Given the description of an element on the screen output the (x, y) to click on. 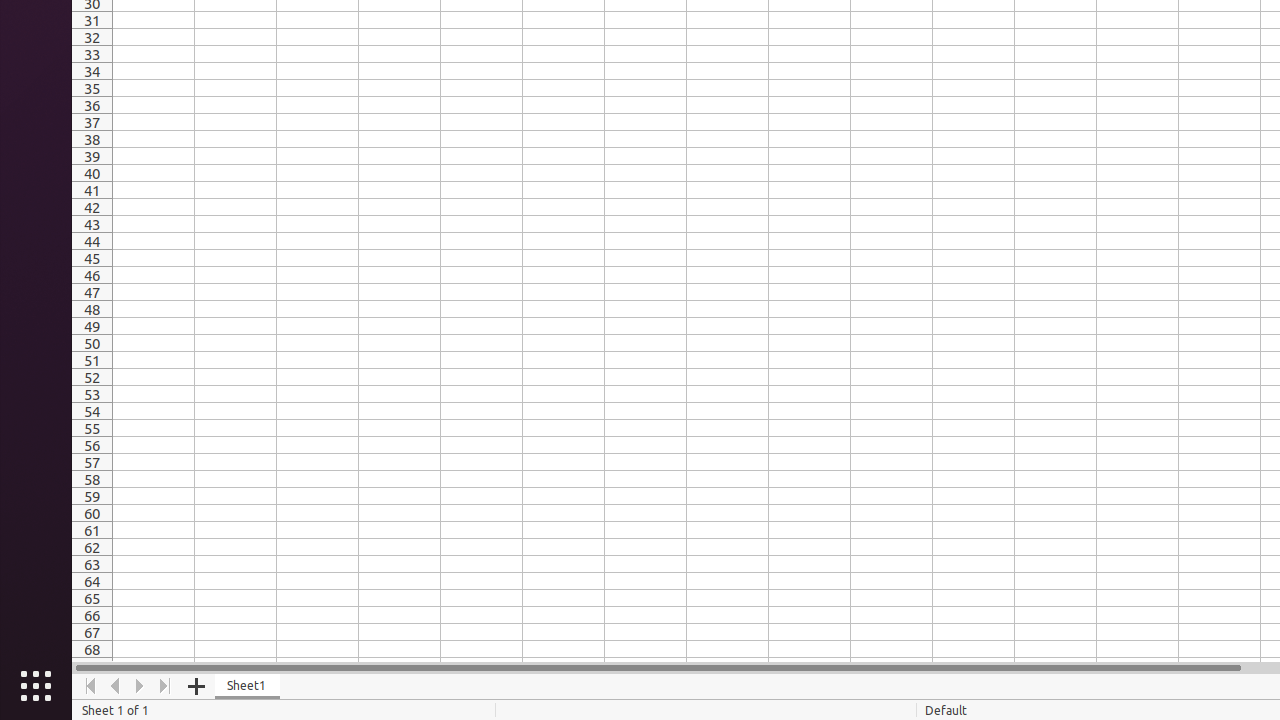
Move Right Element type: push-button (140, 686)
Move Left Element type: push-button (115, 686)
Move To End Element type: push-button (165, 686)
Sheet1 Element type: page-tab (247, 686)
